Given the description of an element on the screen output the (x, y) to click on. 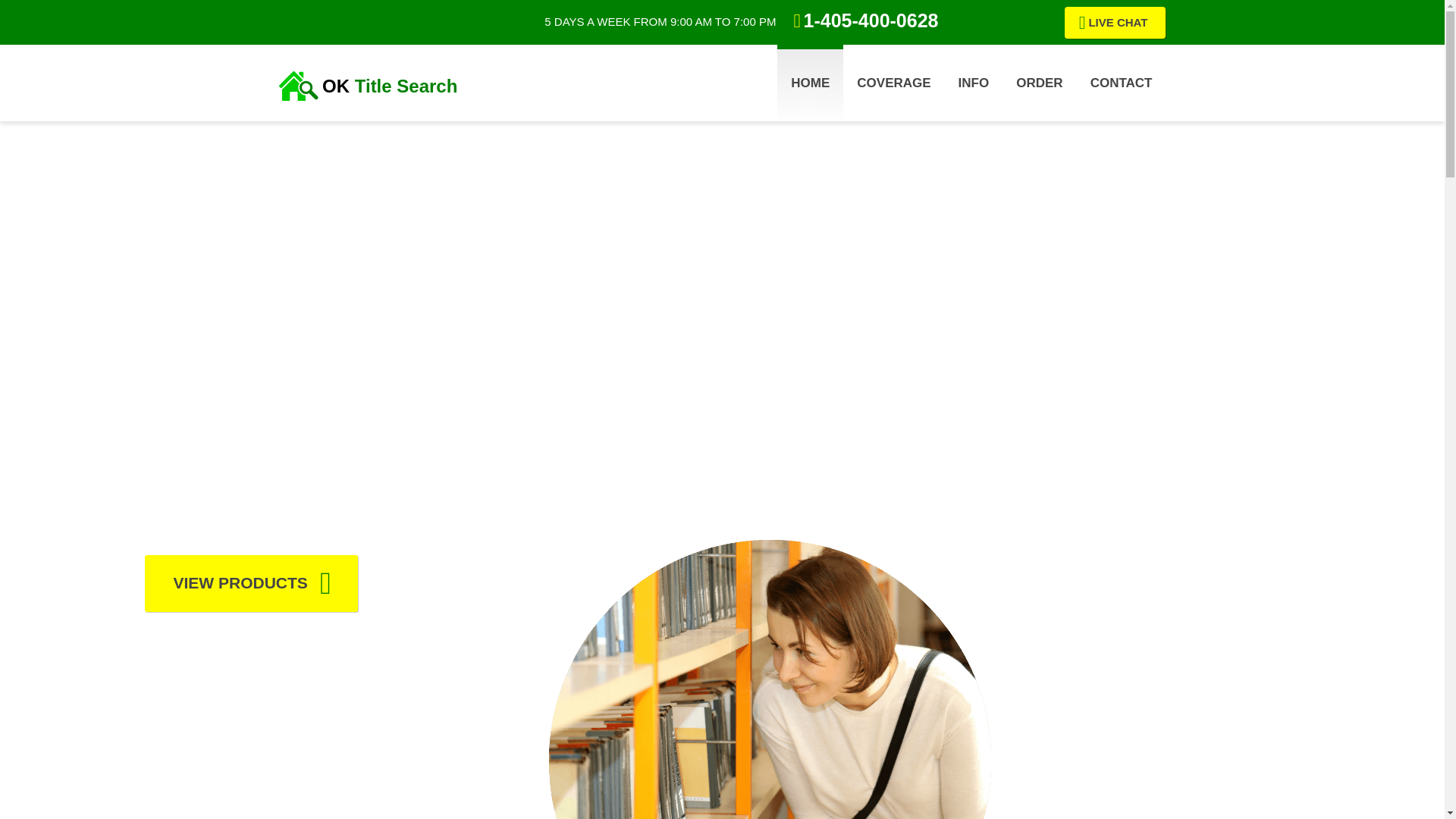
ORDER (1039, 83)
LIVE CHAT (1115, 22)
1-405-400-0628 (865, 20)
OK Title Search (389, 85)
VIEW PRODUCTS (250, 583)
CONTACT (1121, 83)
COVERAGE (893, 83)
